Given the description of an element on the screen output the (x, y) to click on. 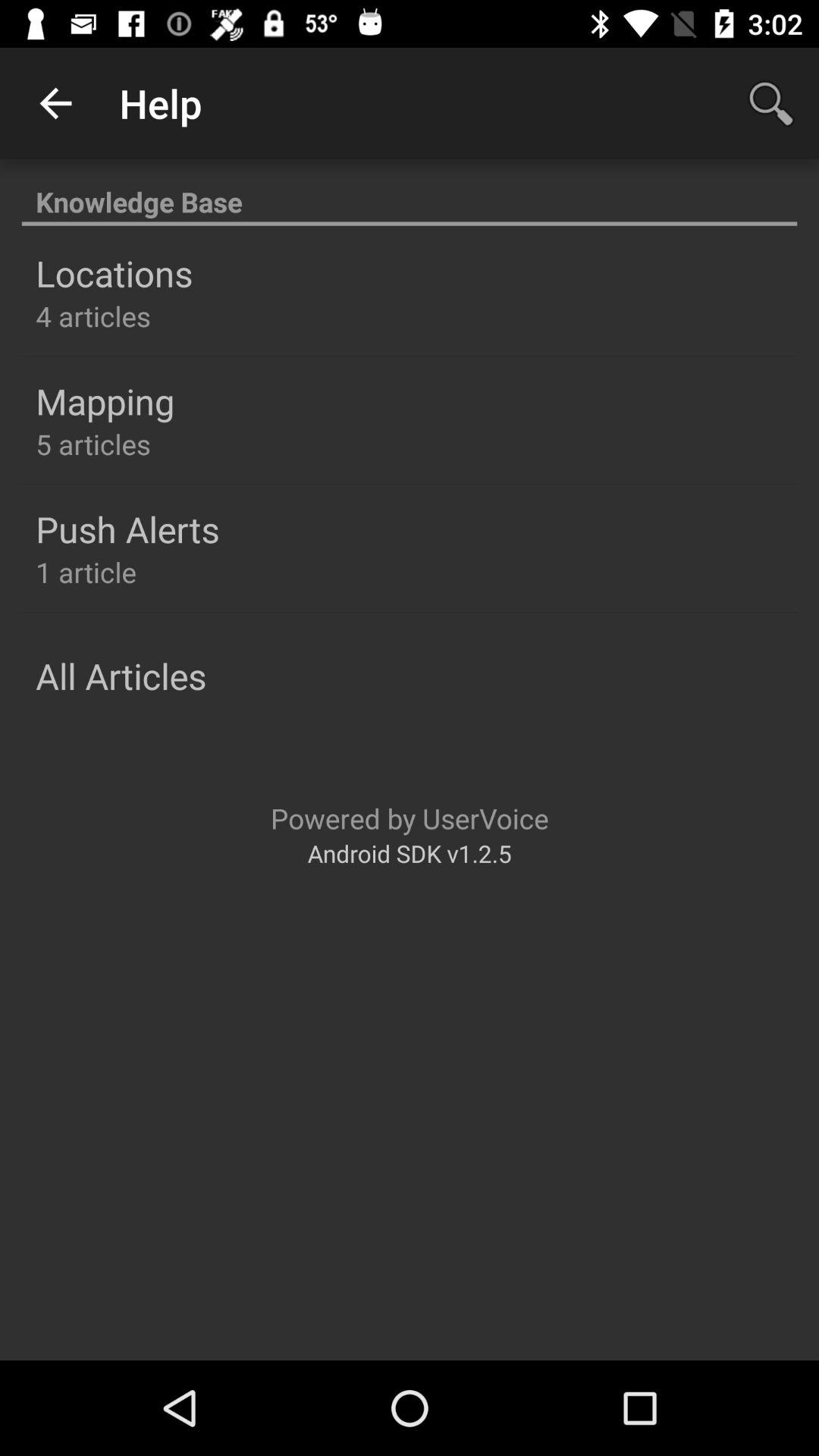
choose icon above the locations (409, 193)
